Given the description of an element on the screen output the (x, y) to click on. 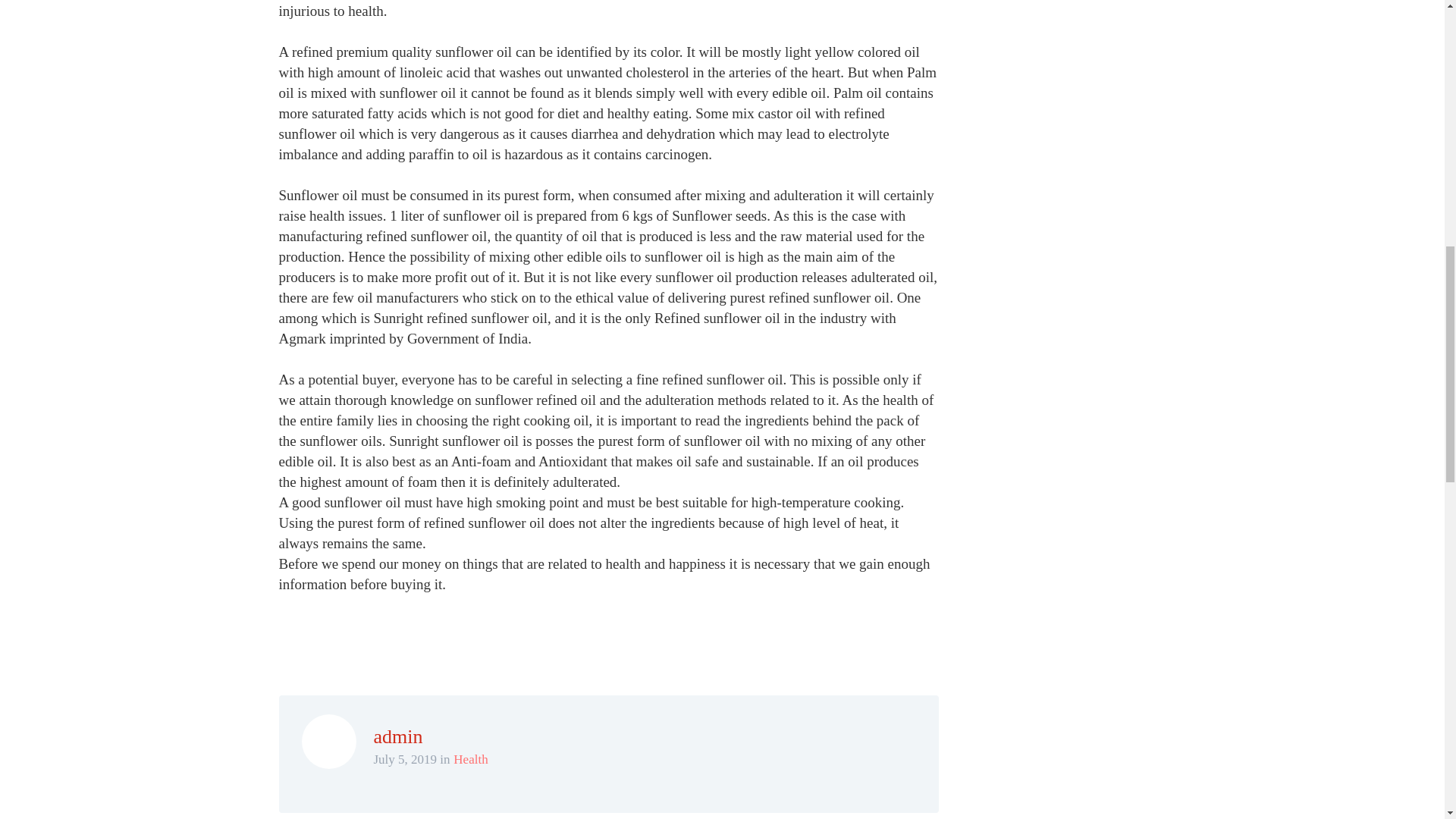
View all posts in Health (469, 759)
Health (469, 759)
